Given the description of an element on the screen output the (x, y) to click on. 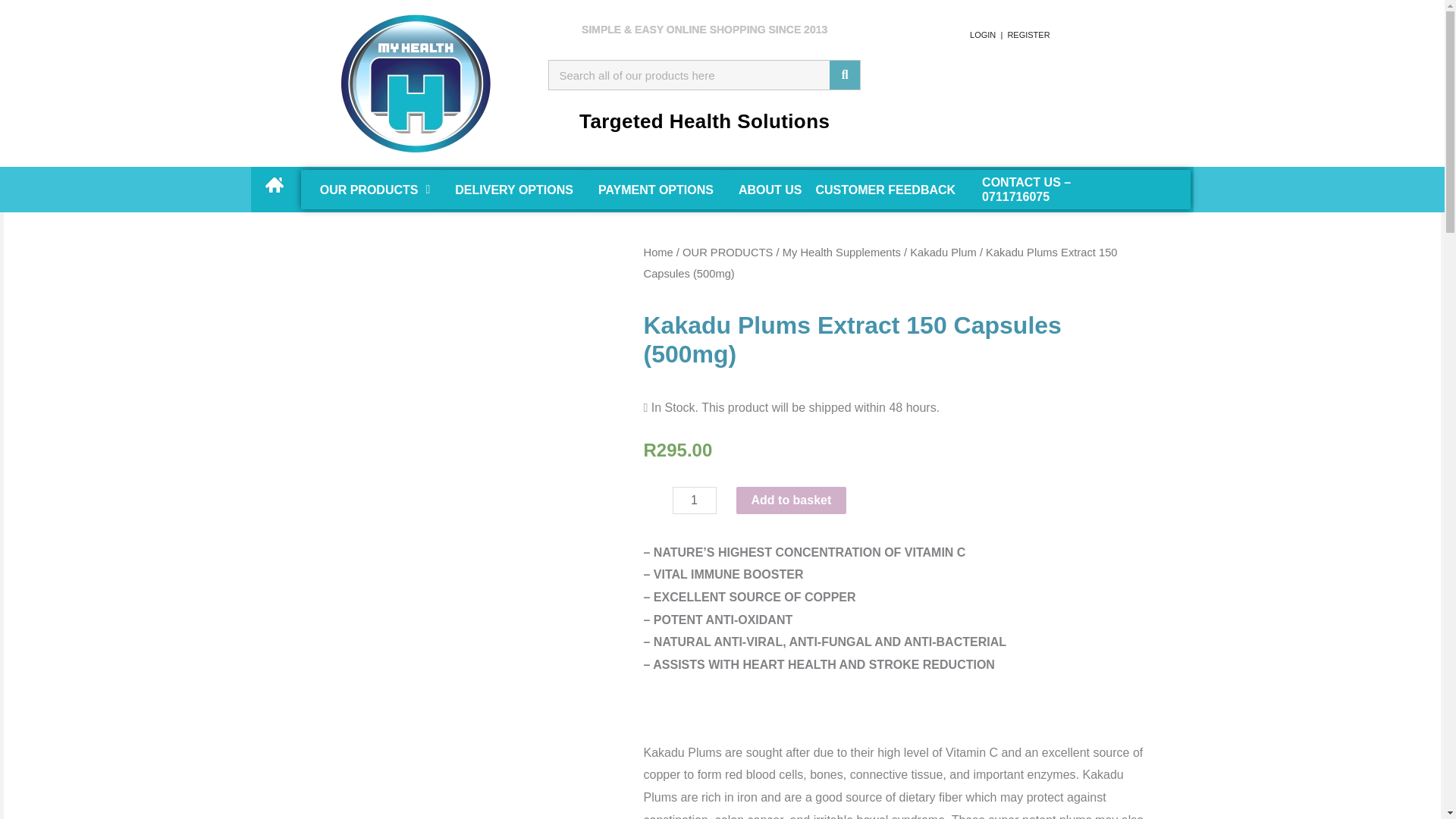
 REGISTER (1026, 33)
LOGIN  (978, 33)
Qty (693, 500)
Search (688, 74)
Search (844, 74)
1 (693, 500)
OUR PRODUCTS (368, 189)
